Given the description of an element on the screen output the (x, y) to click on. 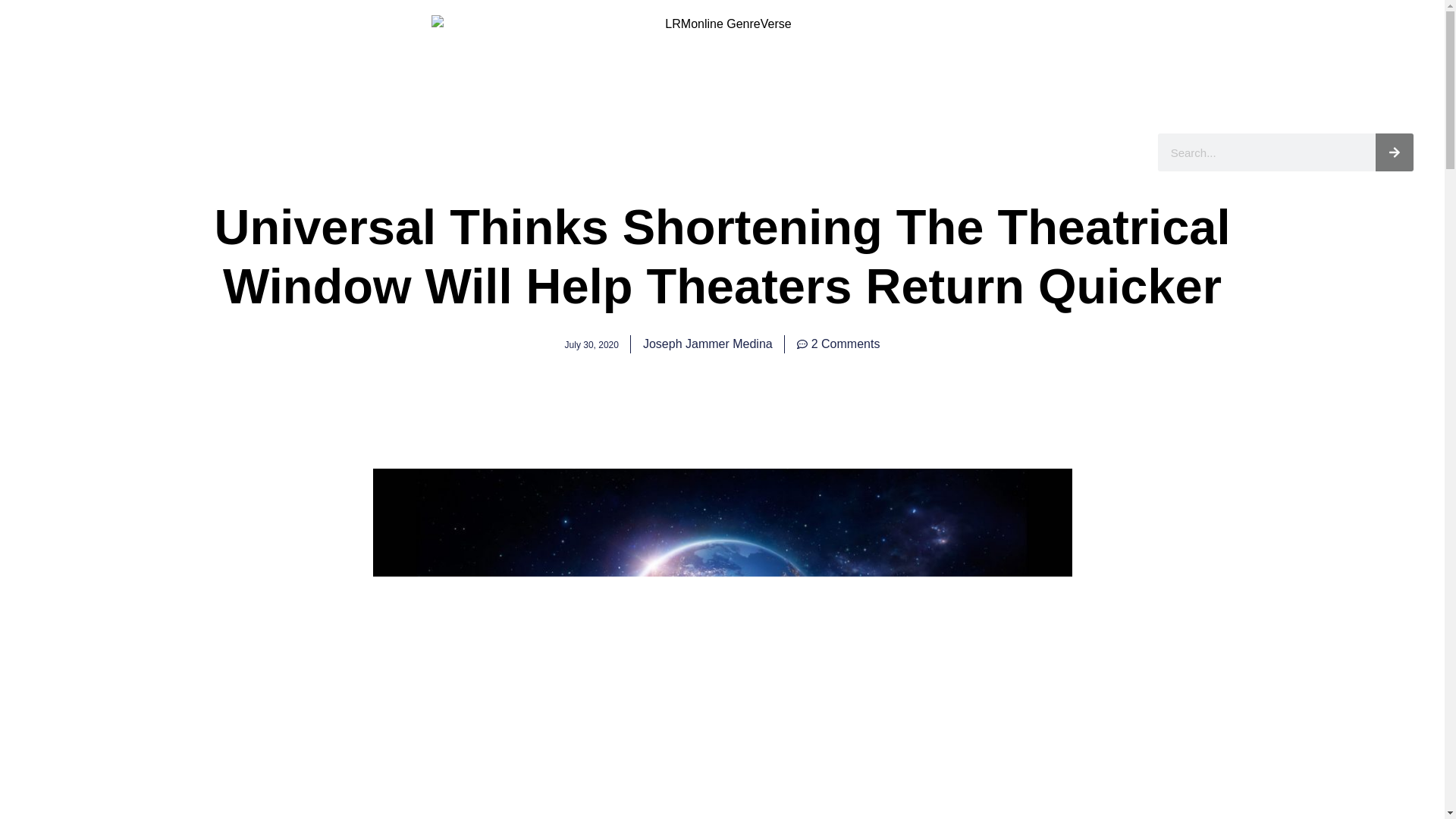
2 Comments (838, 343)
Trailers (793, 150)
Joseph Jammer Medina (708, 343)
Interviews (438, 150)
Reviews (522, 150)
GenreVerse (611, 150)
LRM Exclusives (331, 150)
Shop (860, 150)
July 30, 2020 (591, 343)
